Given the description of an element on the screen output the (x, y) to click on. 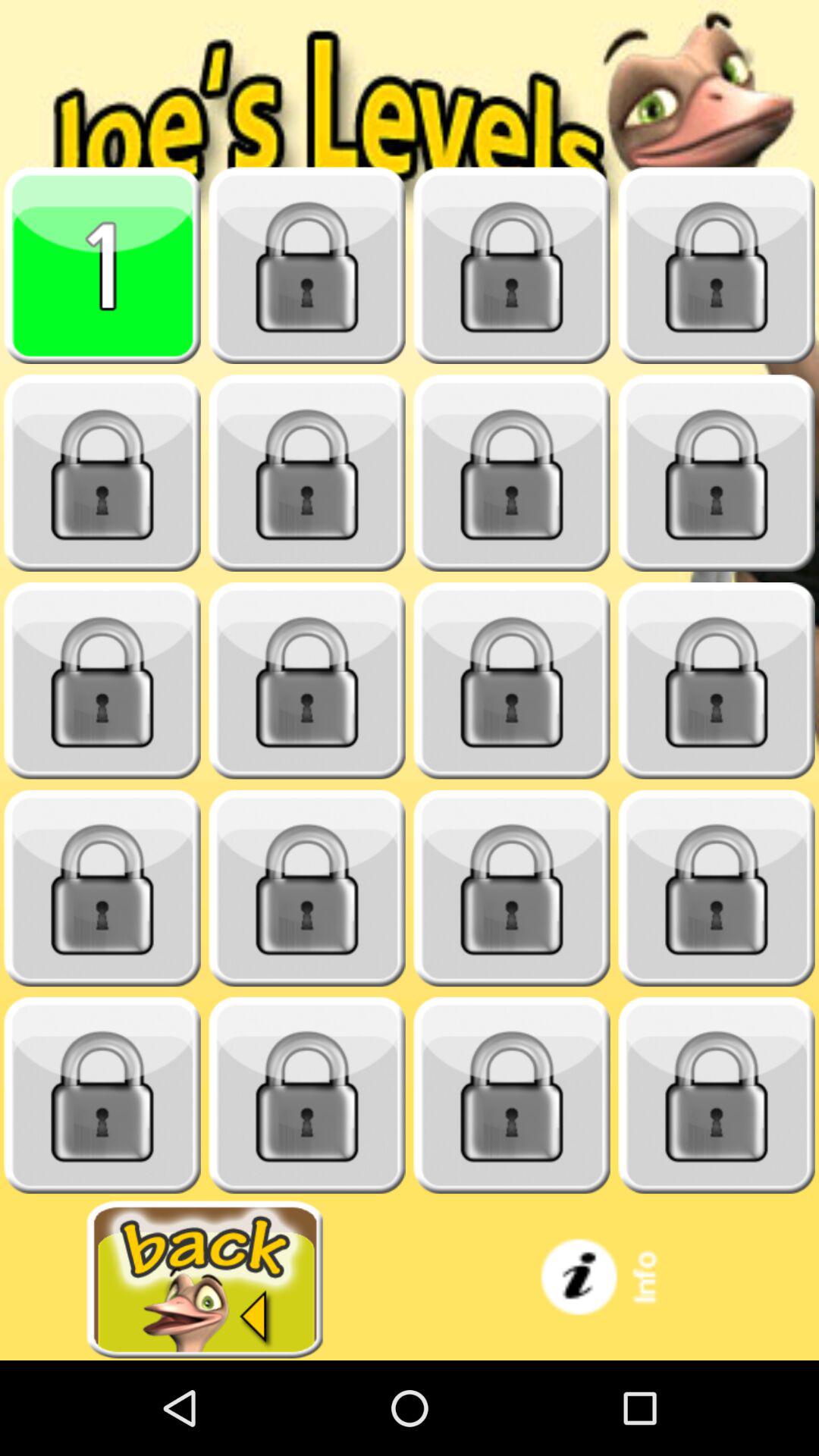
select option (716, 680)
